Given the description of an element on the screen output the (x, y) to click on. 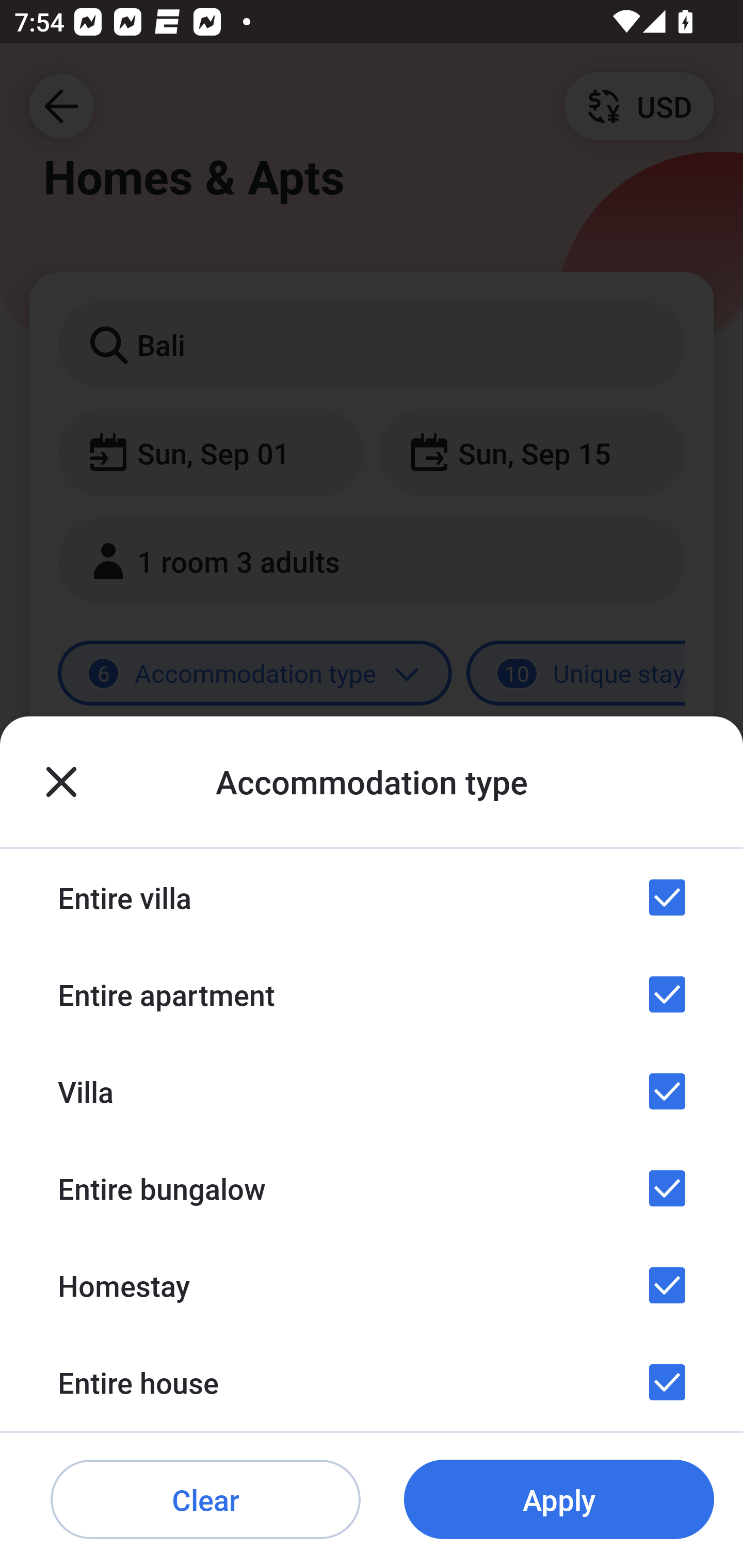
Entire villa (371, 897)
Entire apartment (371, 994)
Villa (371, 1091)
Entire bungalow (371, 1188)
Homestay (371, 1284)
Entire house (371, 1382)
Clear (205, 1499)
Apply (559, 1499)
